Given the description of an element on the screen output the (x, y) to click on. 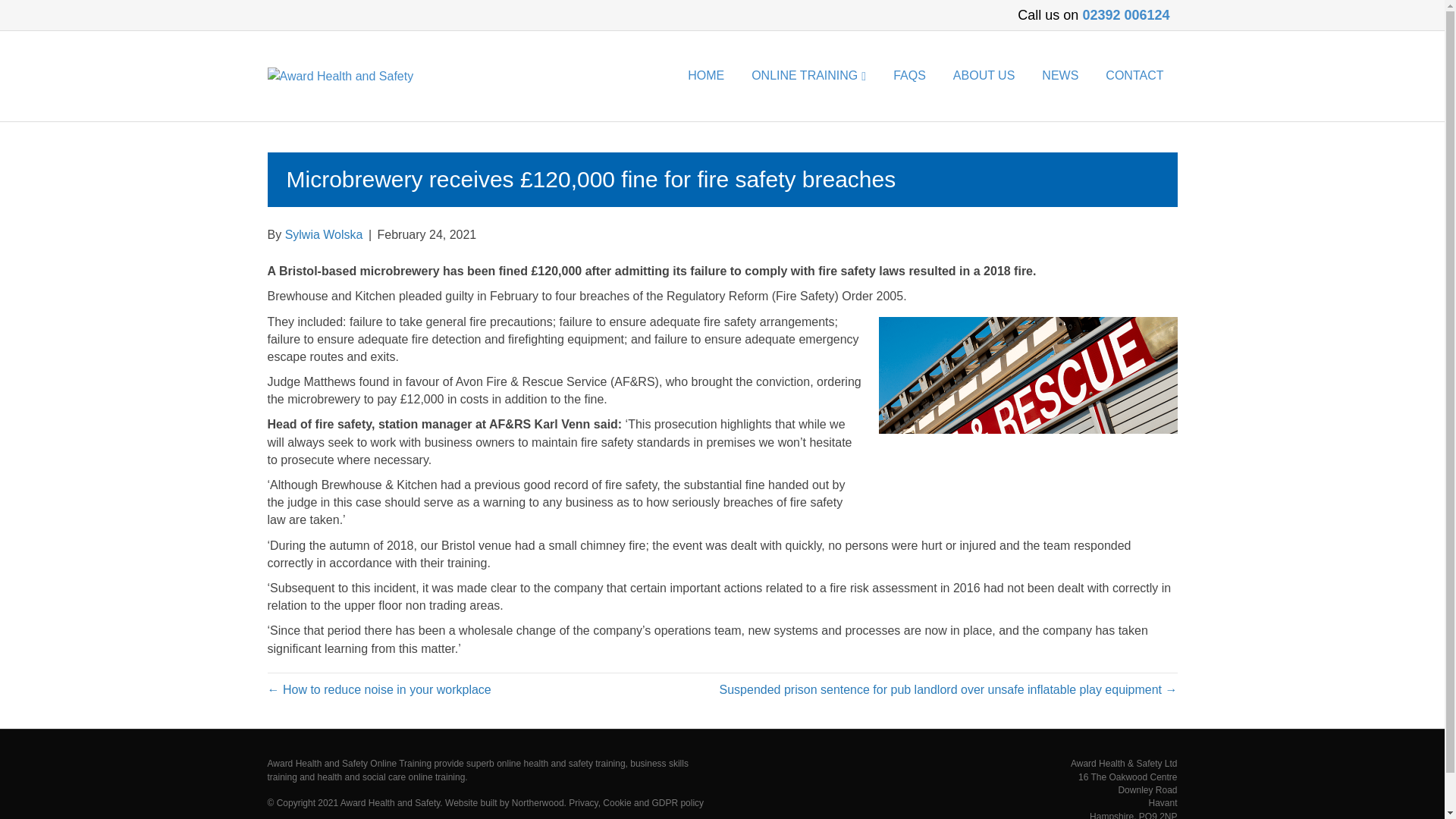
HOME (706, 75)
02392 006124   (1128, 14)
ONLINE TRAINING (808, 76)
